Given the description of an element on the screen output the (x, y) to click on. 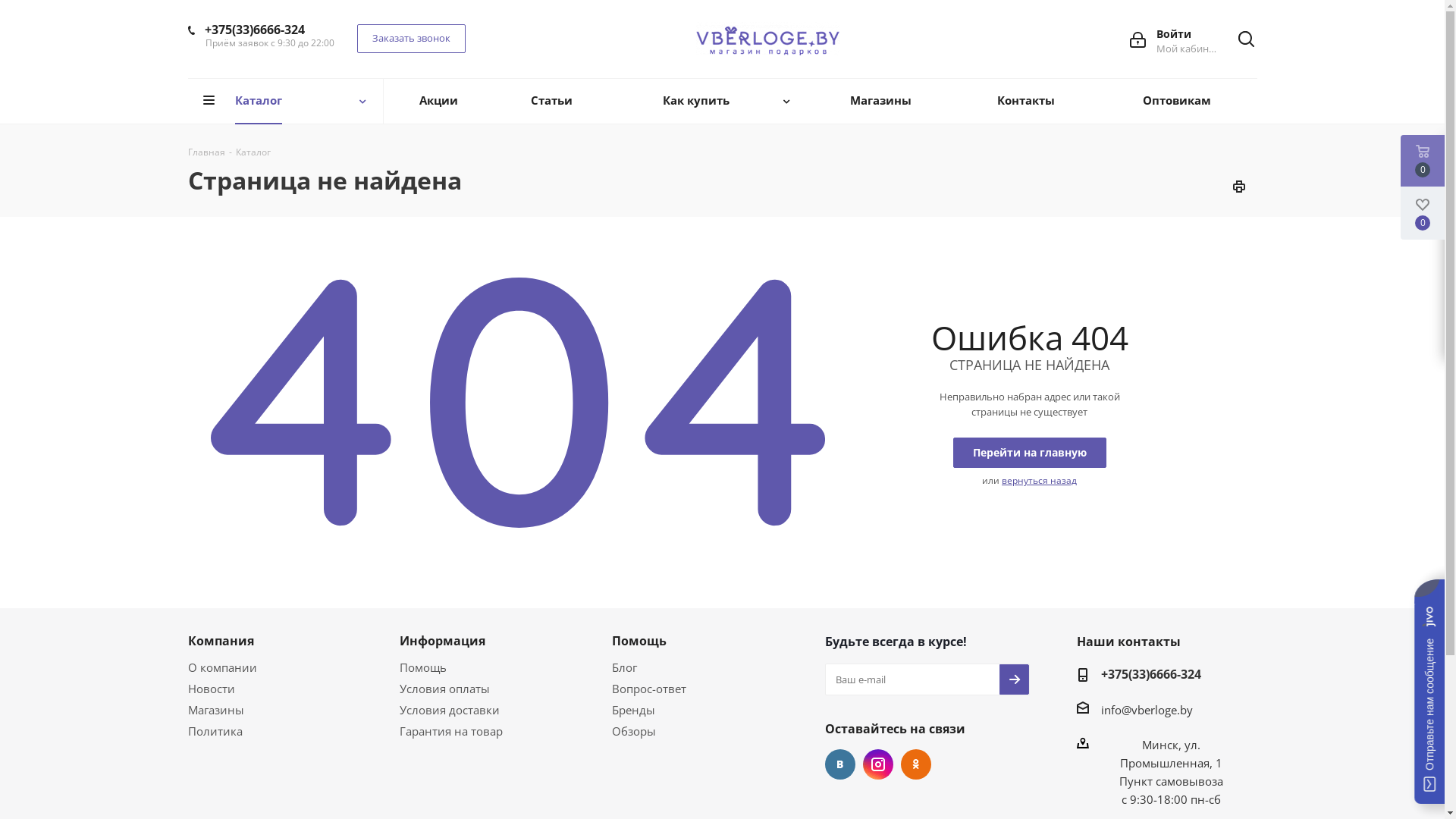
Instagram Element type: text (877, 764)
+375(33)6666-324 Element type: text (254, 29)
vberloge.by Element type: hover (768, 38)
+375(33)6666-324 Element type: text (1151, 674)
info@vberloge.by Element type: text (1146, 709)
